Given the description of an element on the screen output the (x, y) to click on. 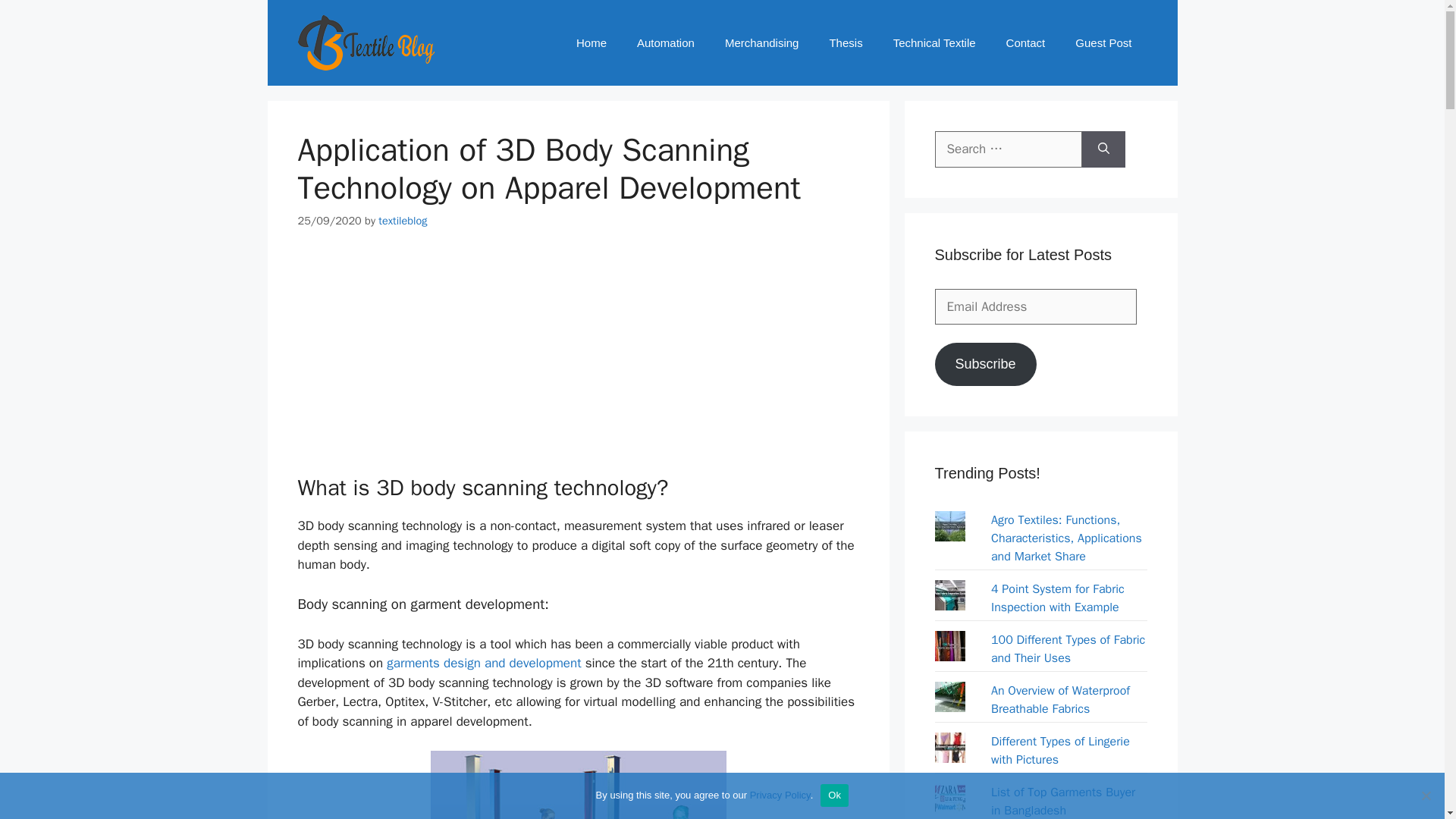
An Overview of Waterproof Breathable Fabrics (1060, 699)
Search for: (1007, 149)
Merchandising (761, 42)
View all posts by textileblog (402, 220)
Contact (1026, 42)
Subscribe (984, 364)
garments design and development (483, 662)
Advertisement (577, 361)
Automation (665, 42)
100 Different Types of Fabric and Their Uses (1067, 648)
Home (590, 42)
Different Types of Lingerie with Pictures (1060, 750)
Technical Textile (934, 42)
